Given the description of an element on the screen output the (x, y) to click on. 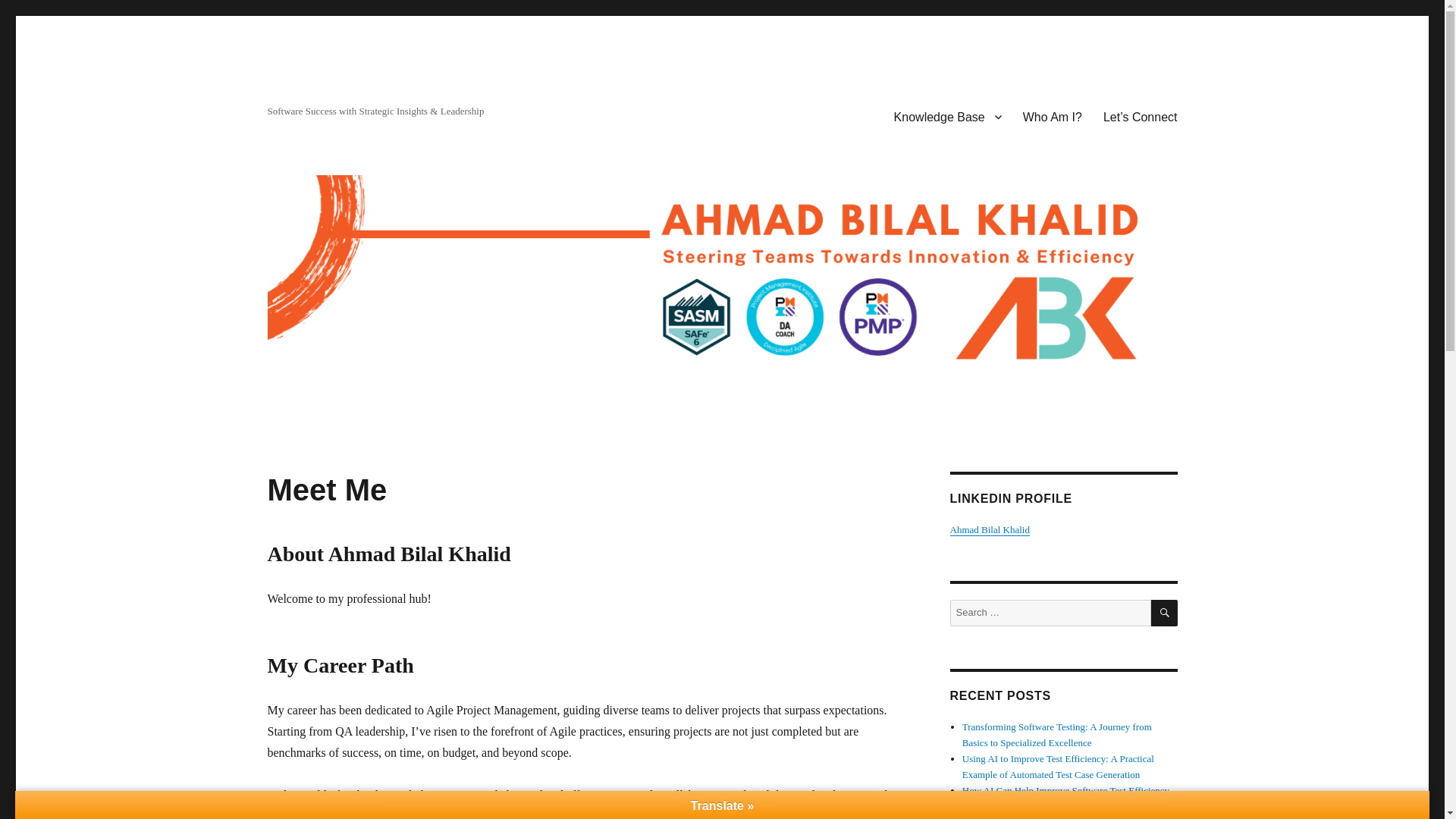
Who Am I? (1052, 116)
SEARCH (1164, 612)
Ahmad Bilal Khalid (989, 529)
How AI Can Help Improve Software Test Efficiency (1065, 790)
Why we went Agile in First Place (1028, 806)
Agile Conference 2018 (1008, 817)
Knowledge Base (947, 116)
